Given the description of an element on the screen output the (x, y) to click on. 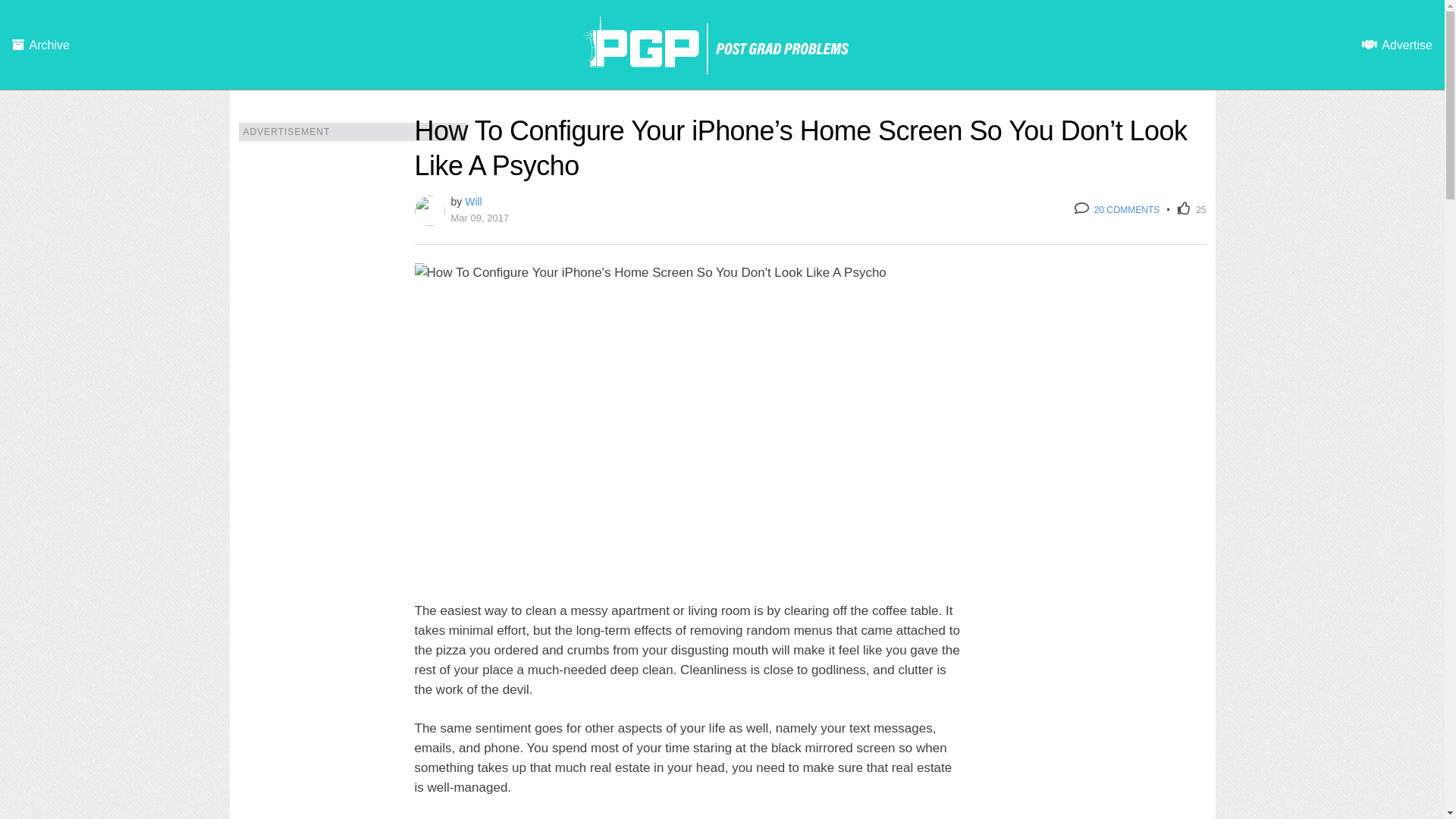
Advertise (1396, 45)
Will (472, 201)
Posts by Will (472, 201)
20 COMMENTS (1116, 209)
Archive (40, 45)
